Given the description of an element on the screen output the (x, y) to click on. 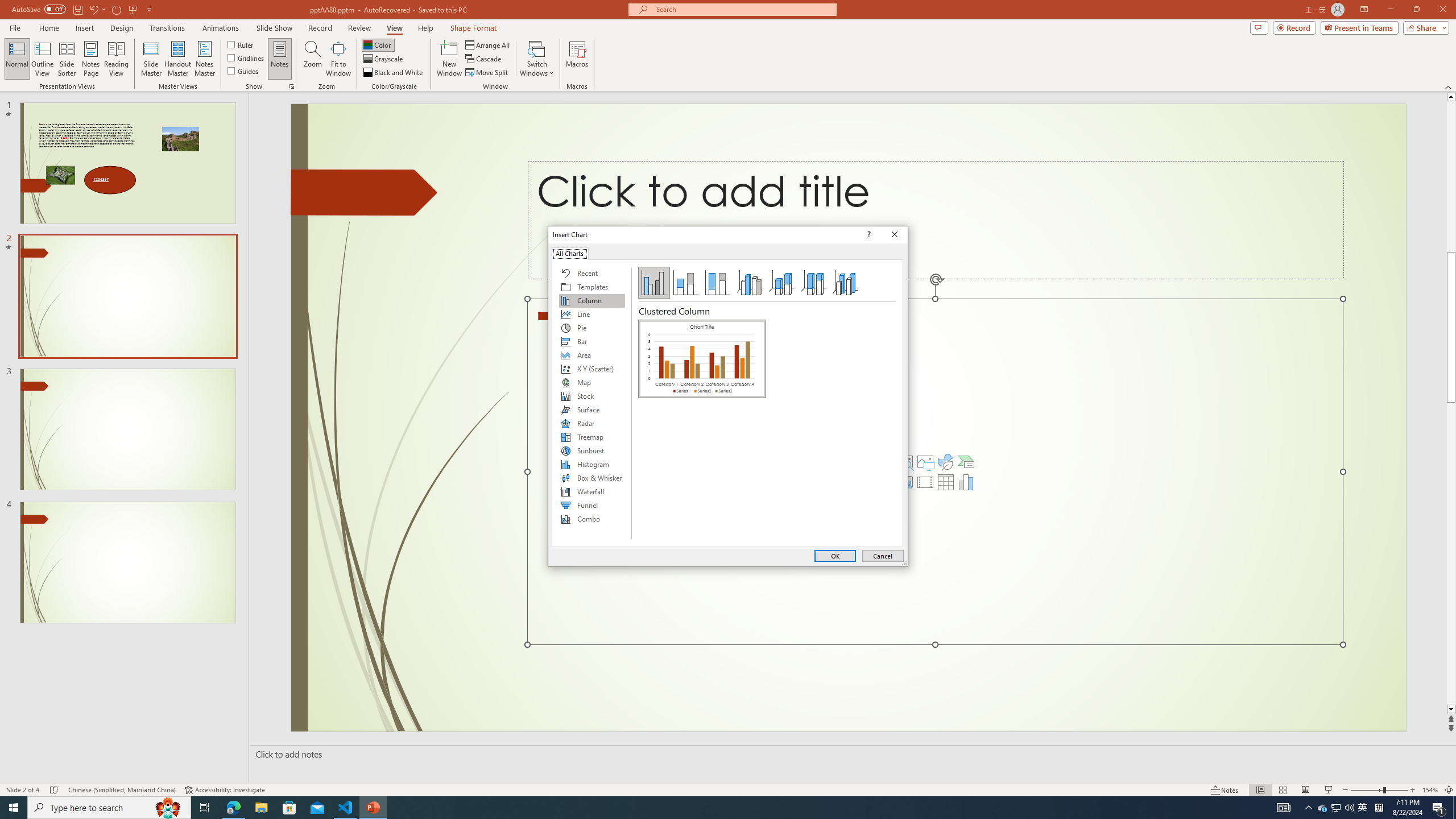
Combo (591, 518)
Insert an Icon (945, 461)
Class: NetUIGalleryContainer (701, 429)
Move Split (487, 72)
Pie (591, 327)
Column (591, 300)
Insert a SmartArt Graphic (965, 461)
Arrange All (488, 44)
X Y (Scatter) (591, 368)
